Given the description of an element on the screen output the (x, y) to click on. 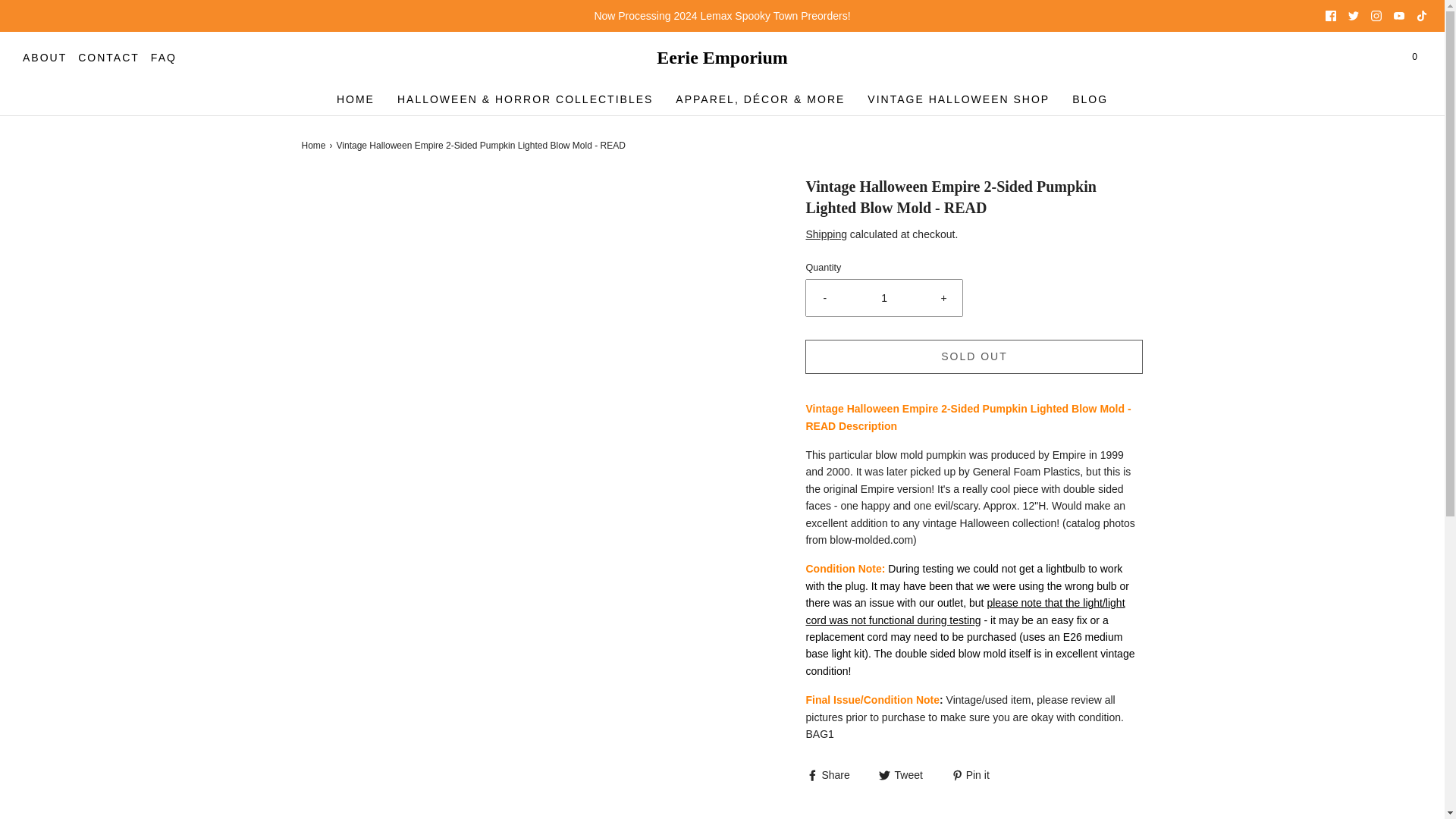
CONTACT (108, 57)
Cart (1413, 57)
Facebook icon (1330, 15)
Back to the frontpage (315, 145)
1 (884, 298)
FAQ (163, 57)
Twitter icon (1353, 15)
Twitter icon (1353, 15)
Instagram icon (1376, 15)
ABOUT (44, 57)
Eerie Emporium (721, 57)
YouTube icon (1399, 15)
Instagram icon (1376, 15)
TikTok icon (1421, 15)
